Given the description of an element on the screen output the (x, y) to click on. 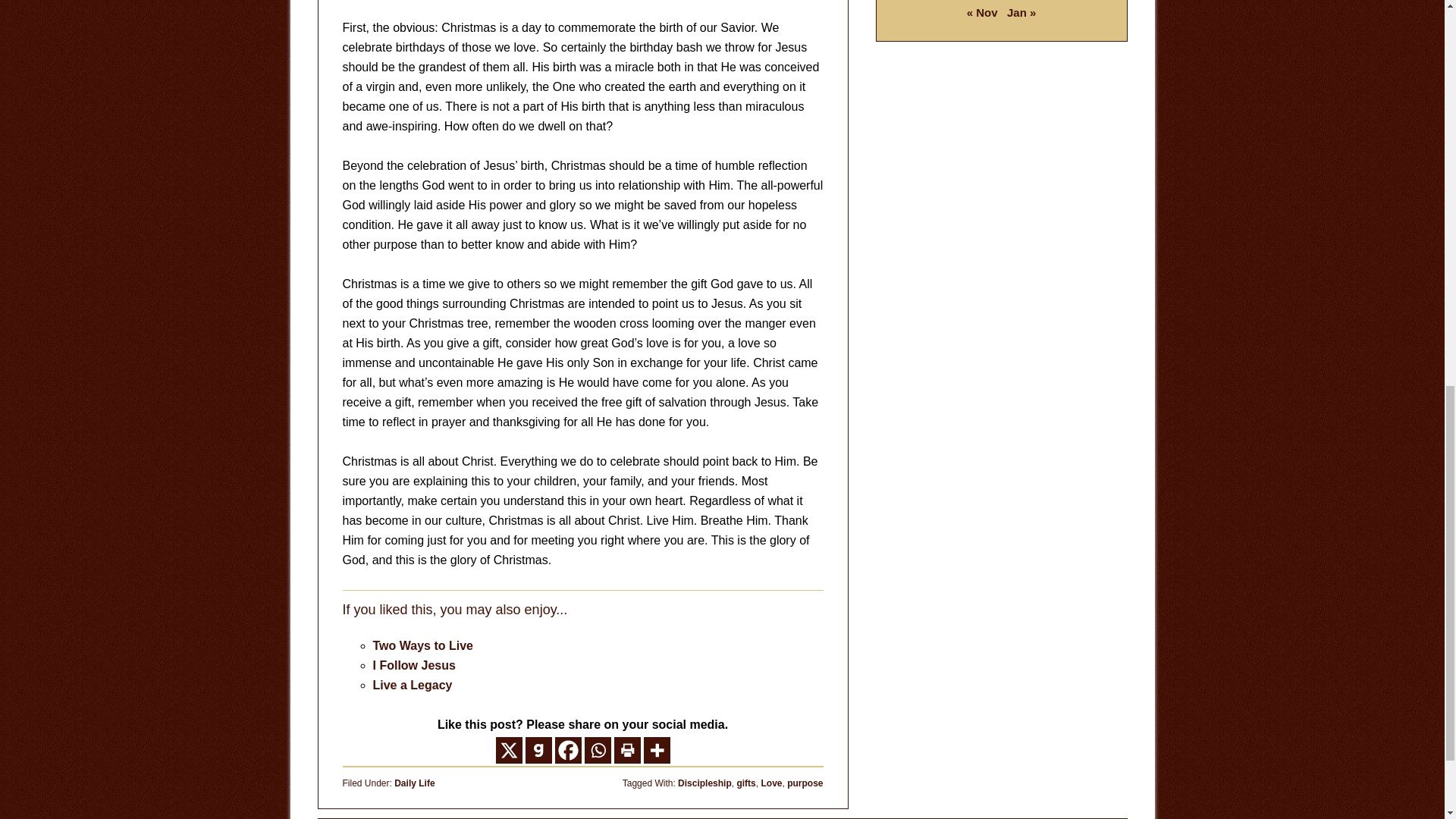
Two Ways to Live (422, 645)
purpose (804, 783)
Print (627, 750)
Live a Legacy (412, 684)
Two Ways to Live (422, 645)
Love (770, 783)
More (656, 750)
I Follow Jesus (413, 665)
Daily Life (413, 783)
gifts (745, 783)
